Given the description of an element on the screen output the (x, y) to click on. 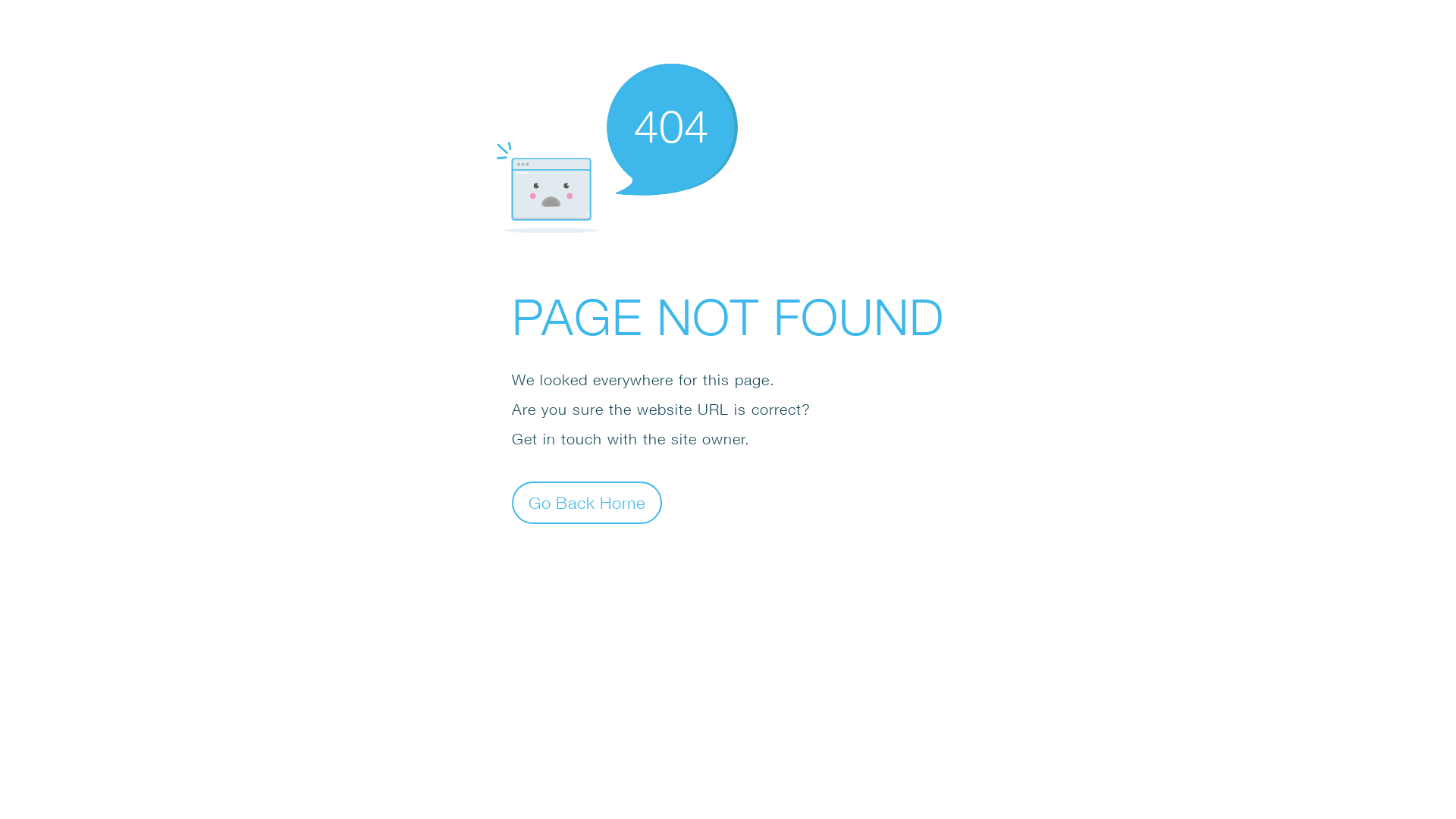
Go Back Home Element type: text (586, 502)
